Given the description of an element on the screen output the (x, y) to click on. 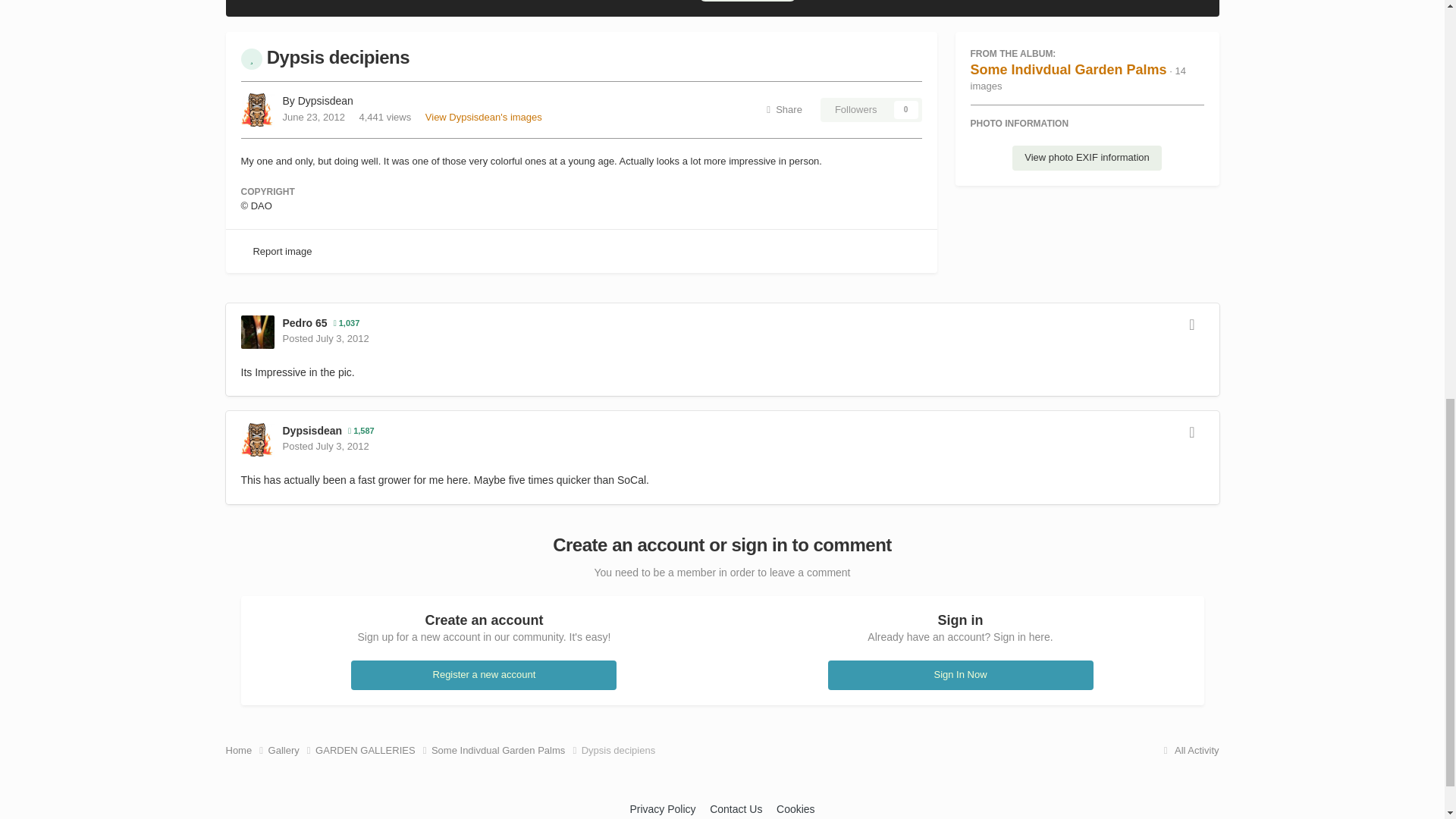
Featured (251, 58)
